Given the description of an element on the screen output the (x, y) to click on. 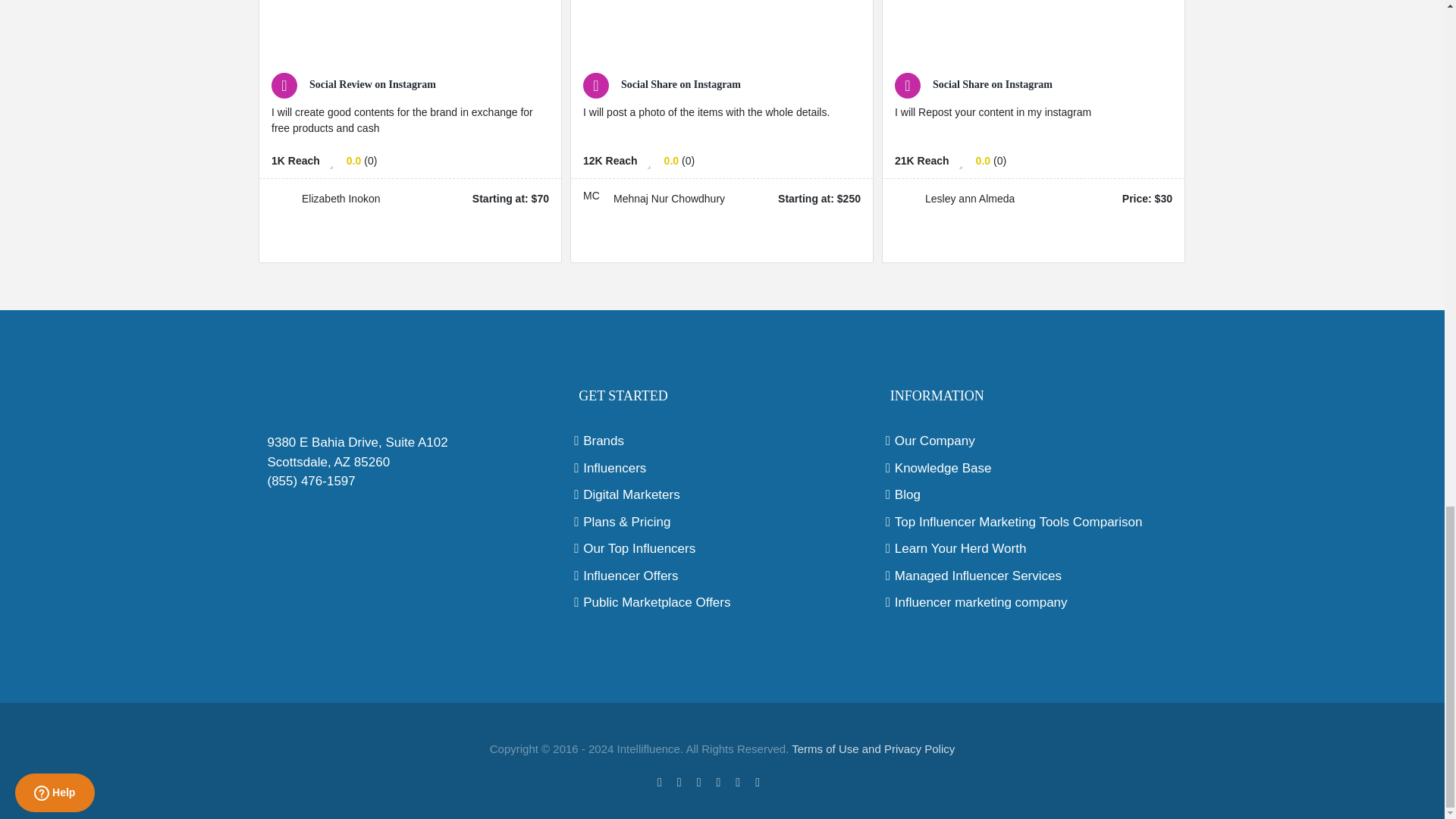
Influencer Offers (722, 576)
Knowledge Base (1034, 468)
TikTok (780, 779)
Star rating out of 5 (670, 160)
Star rating out of 5 (982, 160)
Star rating out of 5 (353, 160)
Brands (722, 441)
Mehnaj Nur Chowdhury (594, 199)
Terms of Use and Privacy Policy (873, 748)
Managed Influencer Services (1034, 576)
